Given the description of an element on the screen output the (x, y) to click on. 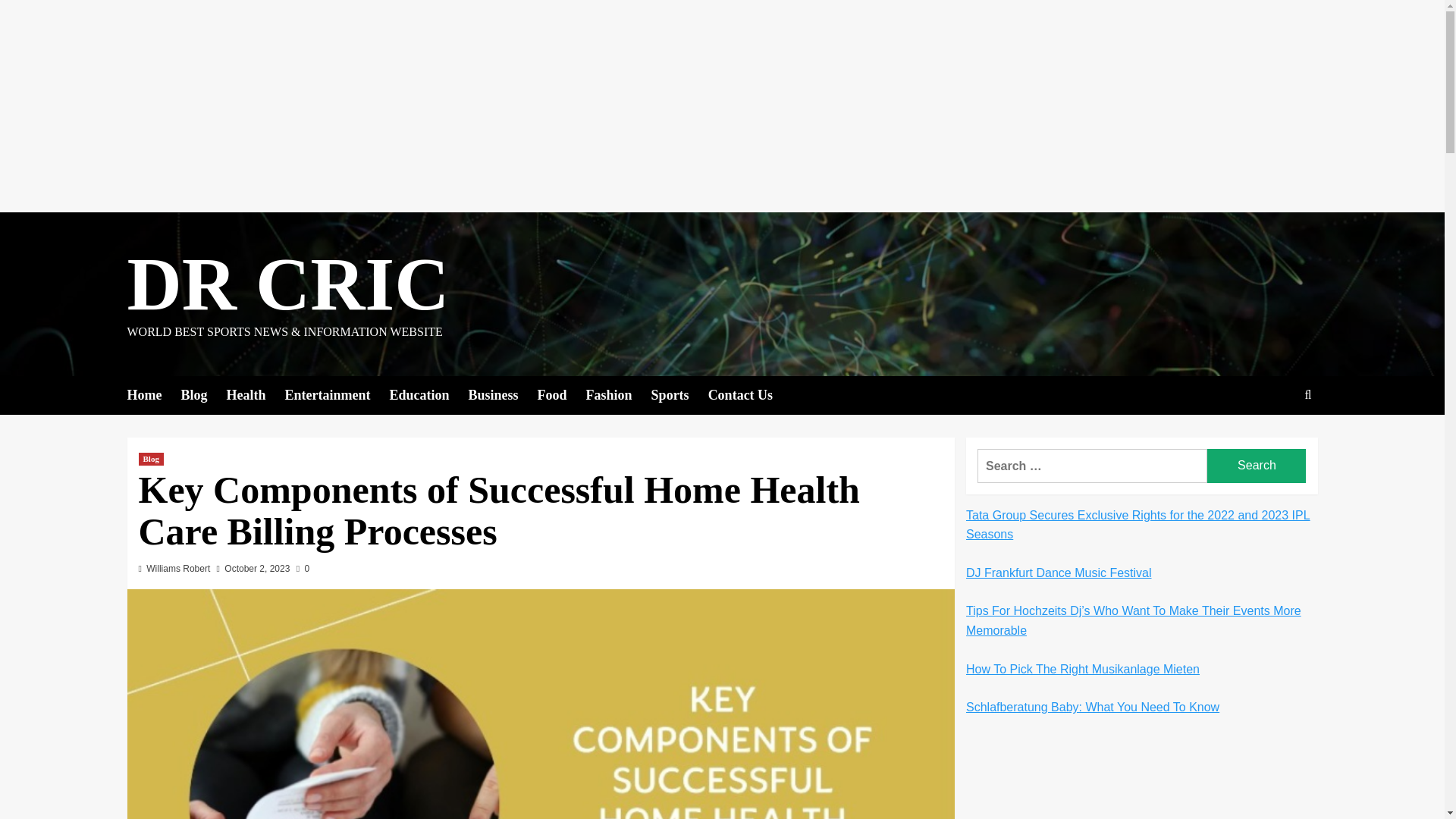
October 2, 2023 (256, 568)
DR CRIC (288, 283)
Home (154, 394)
Blog (150, 459)
Search (1272, 441)
Entertainment (337, 394)
Education (427, 394)
Contact Us (749, 394)
0 (302, 568)
Business (502, 394)
Blog (202, 394)
Williams Robert (178, 568)
Fashion (618, 394)
Health (254, 394)
Sports (678, 394)
